Given the description of an element on the screen output the (x, y) to click on. 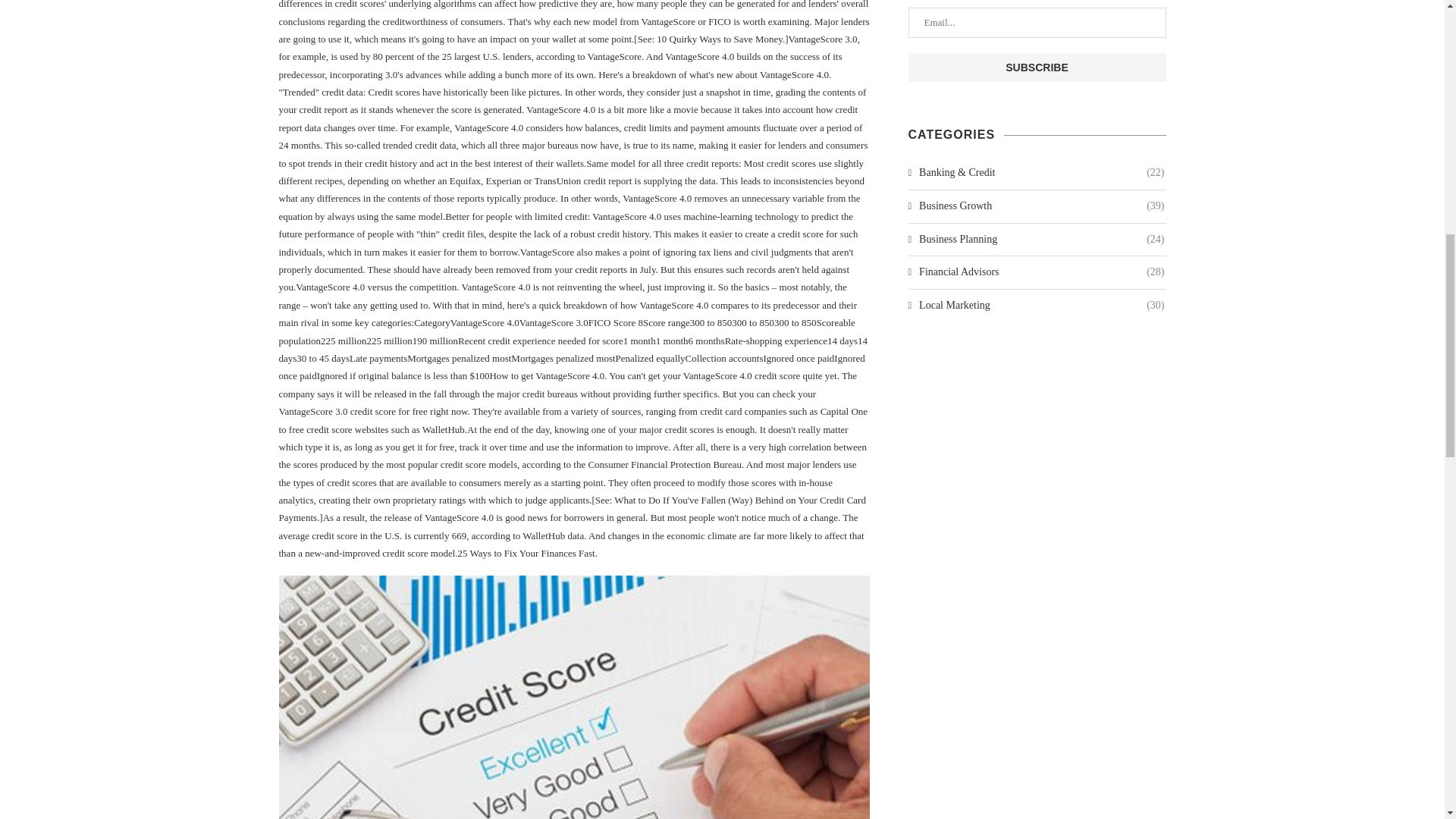
Subscribe (1037, 67)
